Given the description of an element on the screen output the (x, y) to click on. 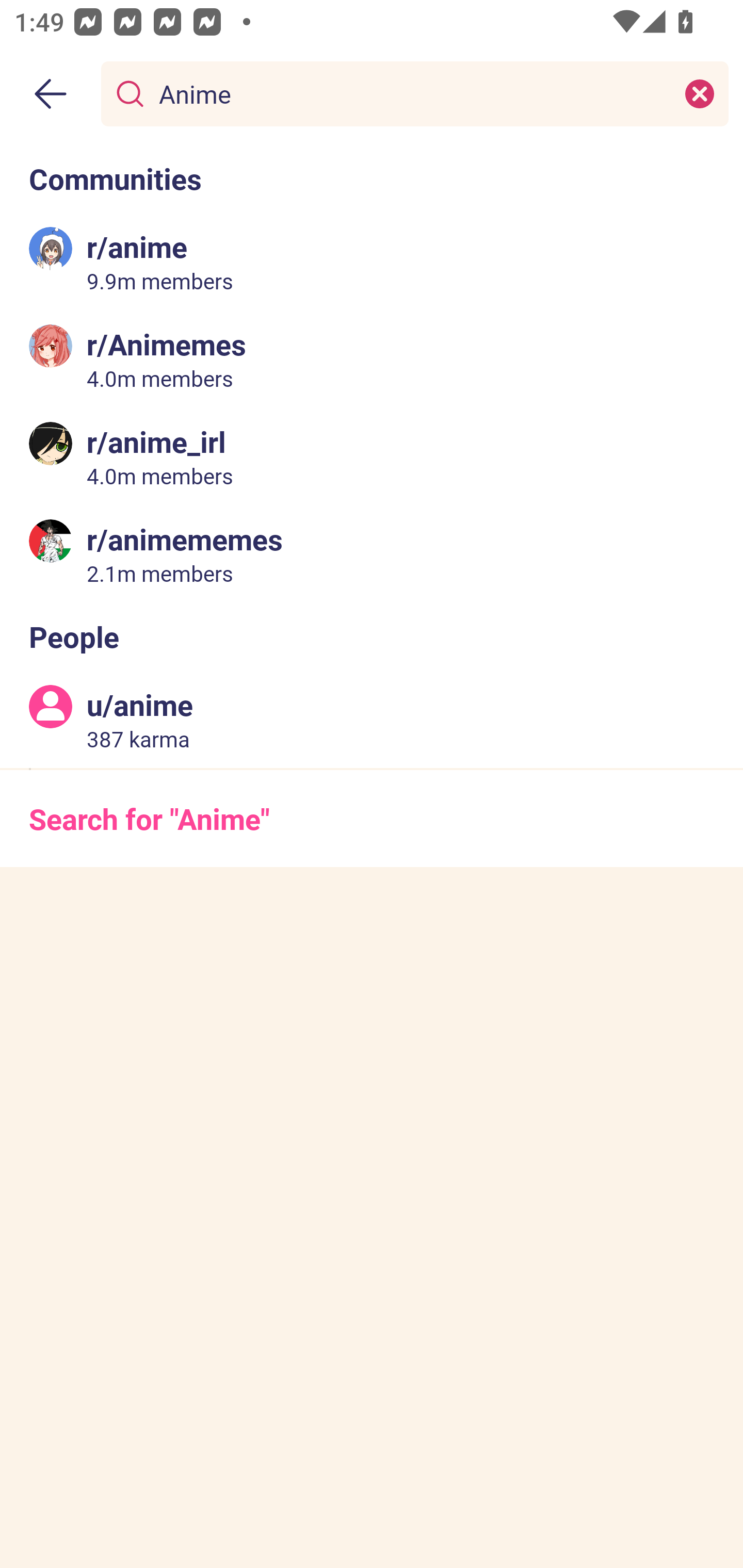
Back (50, 93)
Anime (410, 93)
Clear search (699, 93)
r/anime 9.9m members 9.9 million members (371, 261)
r/Animemes 4.0m members 4.0 million members (371, 358)
r/anime_irl 4.0m members 4.0 million members (371, 455)
r/animememes 2.1m members 2.1 million members (371, 553)
u/anime 387 karma 387 karma (371, 719)
Search for "Anime" (371, 818)
